Given the description of an element on the screen output the (x, y) to click on. 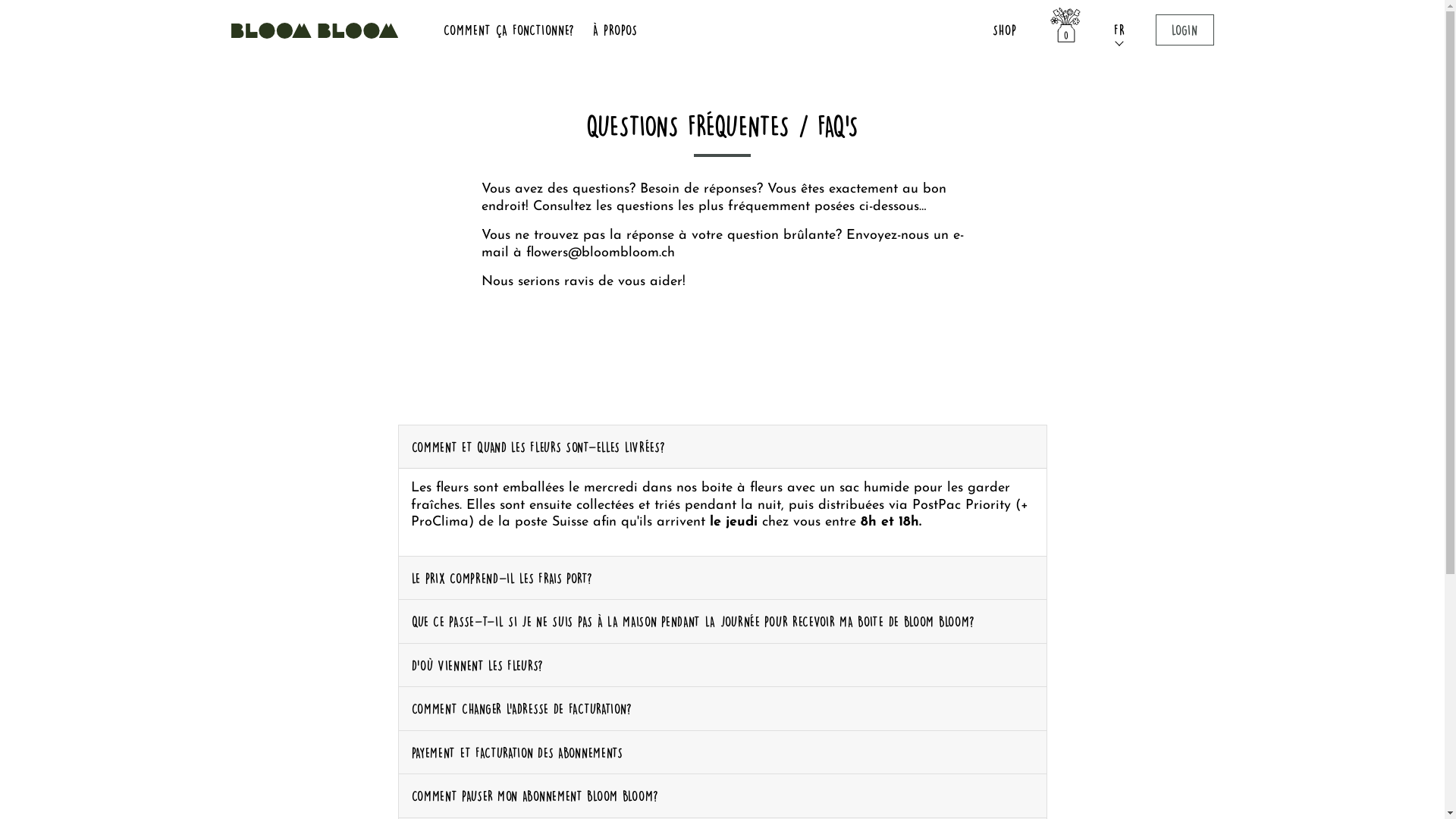
FR Element type: text (1119, 29)
PAYEMENT ET FACTURATION DES ABONNEMENTS Element type: text (722, 752)
SHOP Element type: text (1004, 29)
COMMENT CHANGER L'ADRESSE DE FACTURATION? Element type: text (722, 708)
LE PRIX COMPREND-IL LES FRAIS PORT? Element type: text (722, 577)
0 Element type: text (1064, 29)
COMMENT PAUSER MON ABONNEMENT BLOOM BLOOM? Element type: text (722, 795)
LOGIN Element type: text (1184, 29)
